Given the description of an element on the screen output the (x, y) to click on. 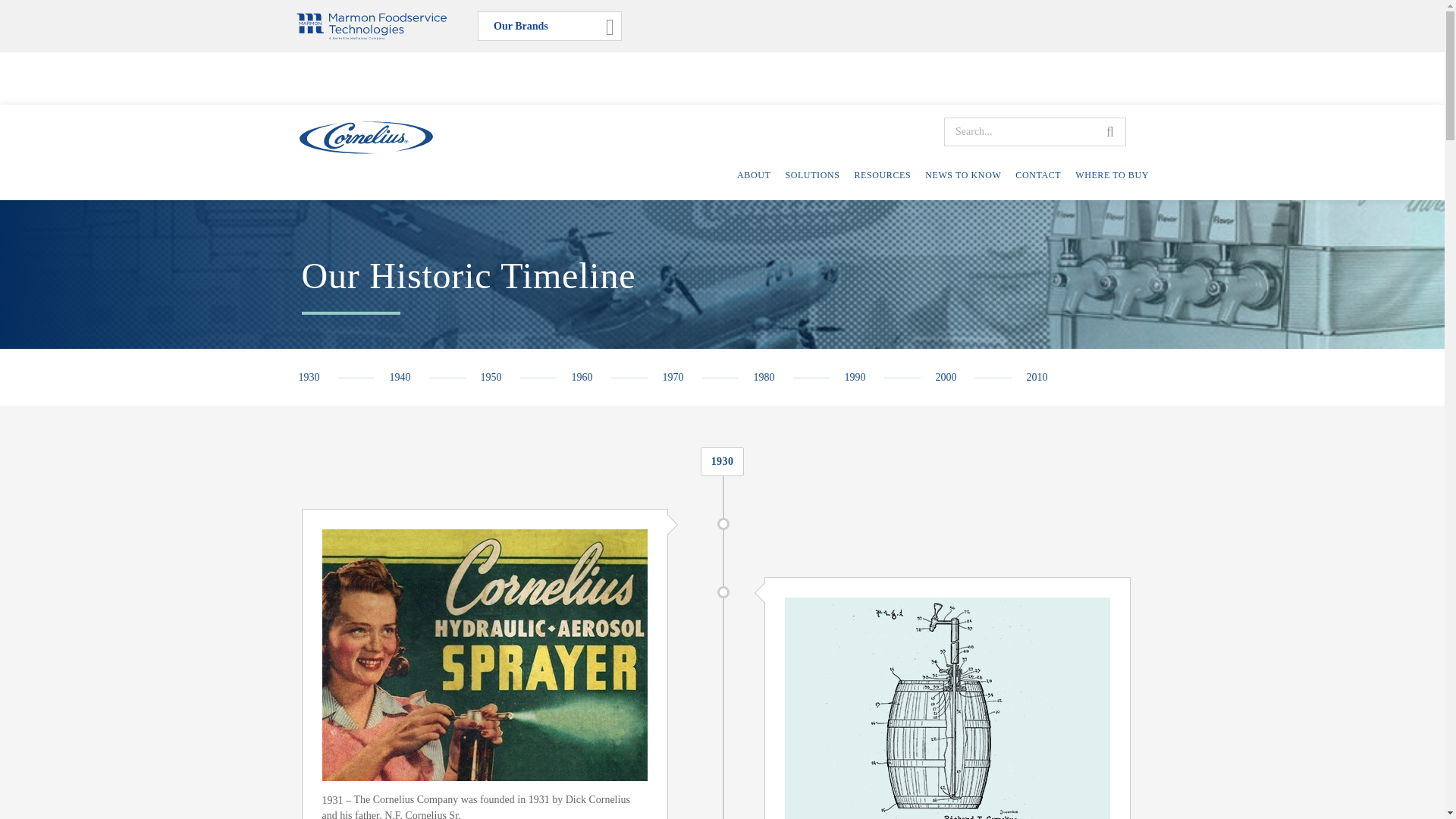
WHERE TO BUY (1111, 174)
NEWS TO KNOW (962, 174)
ABOUT (753, 174)
CONTACT (1037, 174)
RESOURCES (882, 174)
SOLUTIONS (812, 174)
